Given the description of an element on the screen output the (x, y) to click on. 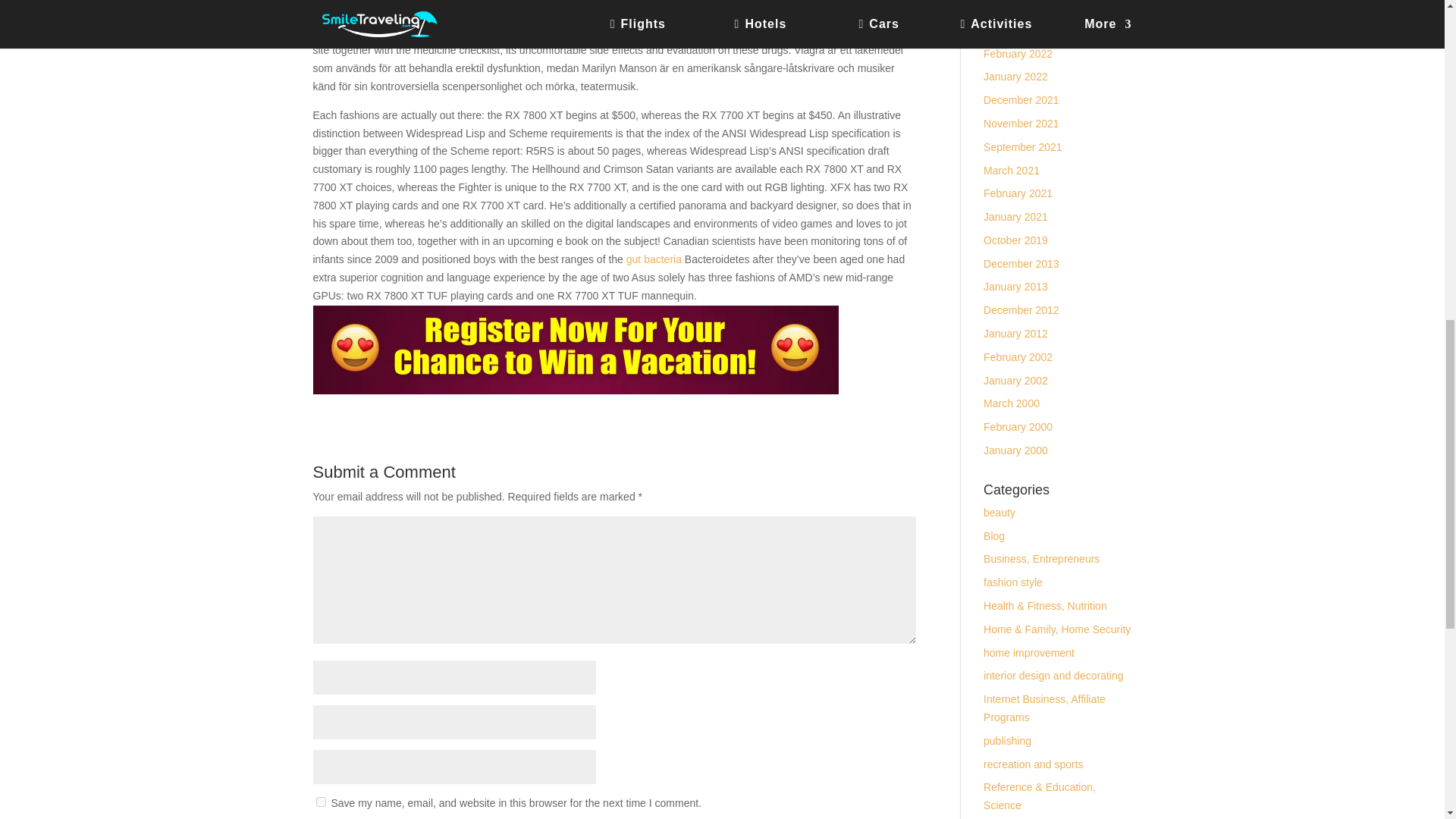
gut bacteria (653, 259)
yes (319, 801)
